Given the description of an element on the screen output the (x, y) to click on. 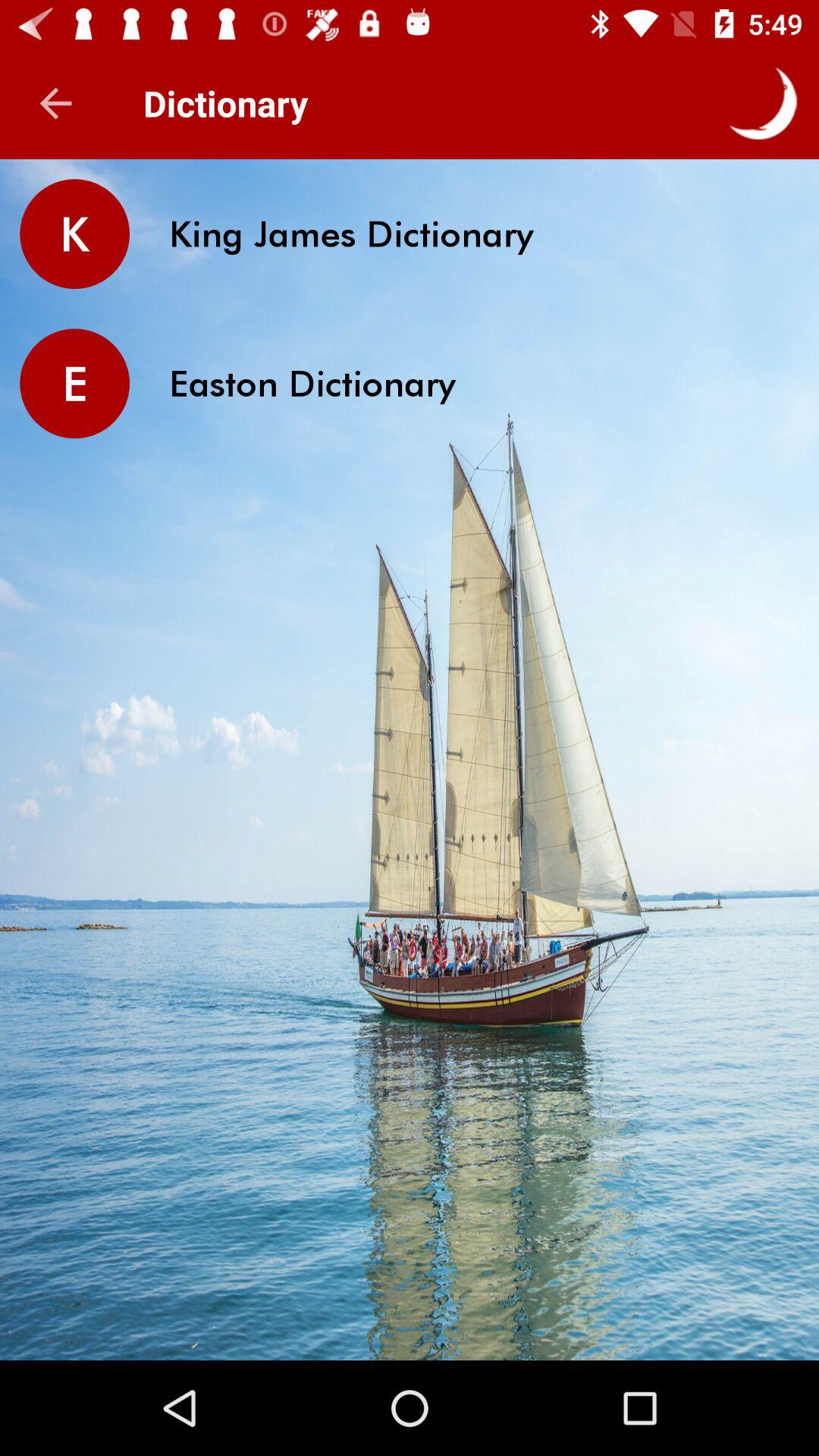
go back (55, 103)
